Given the description of an element on the screen output the (x, y) to click on. 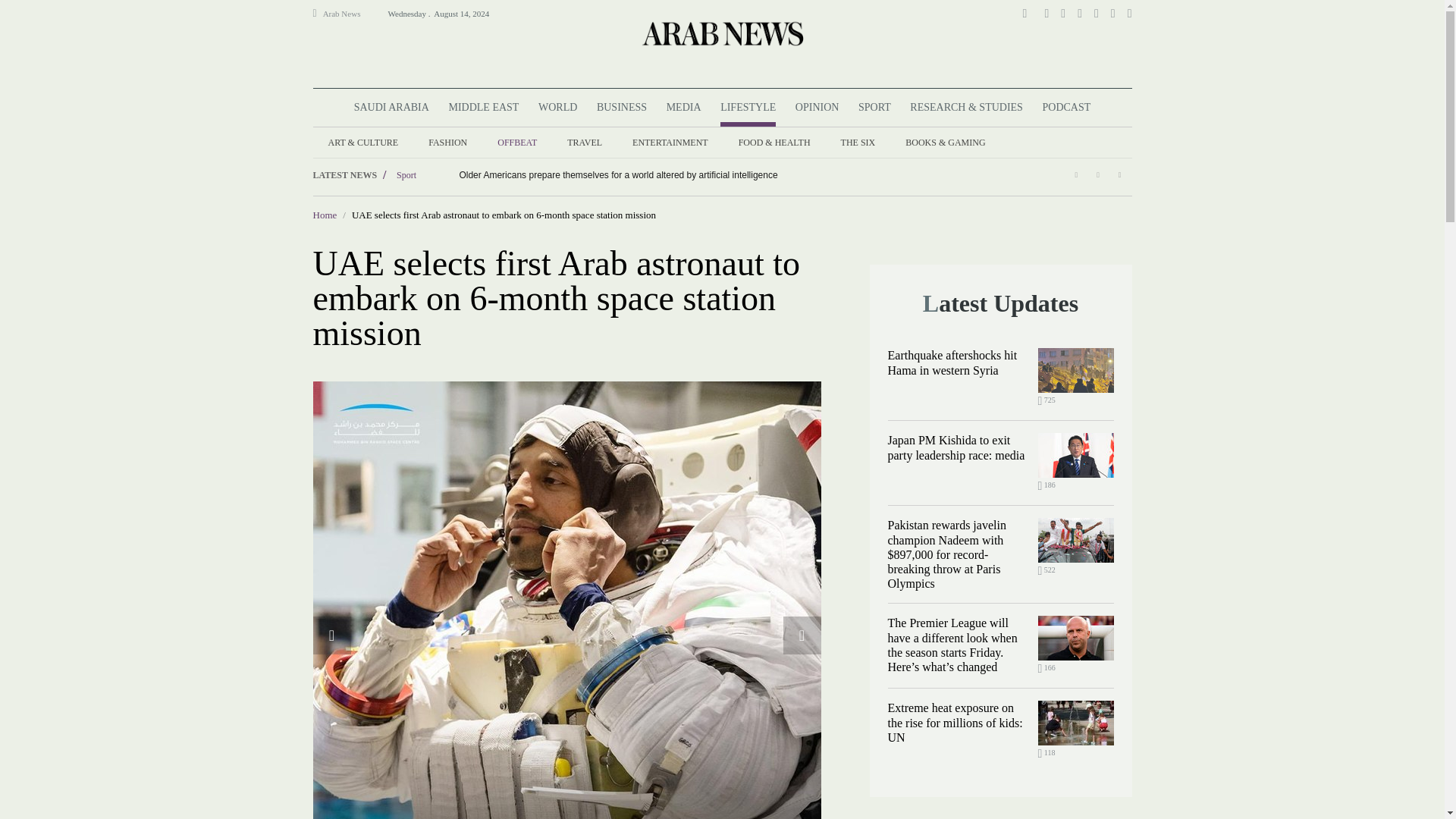
Japan PM Kishida to exit party leadership race: media (1074, 455)
Earthquake aftershocks hit Hama in western Syria (1074, 370)
Extreme heat exposure on the rise for millions of kids: UN (1074, 723)
Arabnews (721, 33)
Arab News (348, 13)
